Given the description of an element on the screen output the (x, y) to click on. 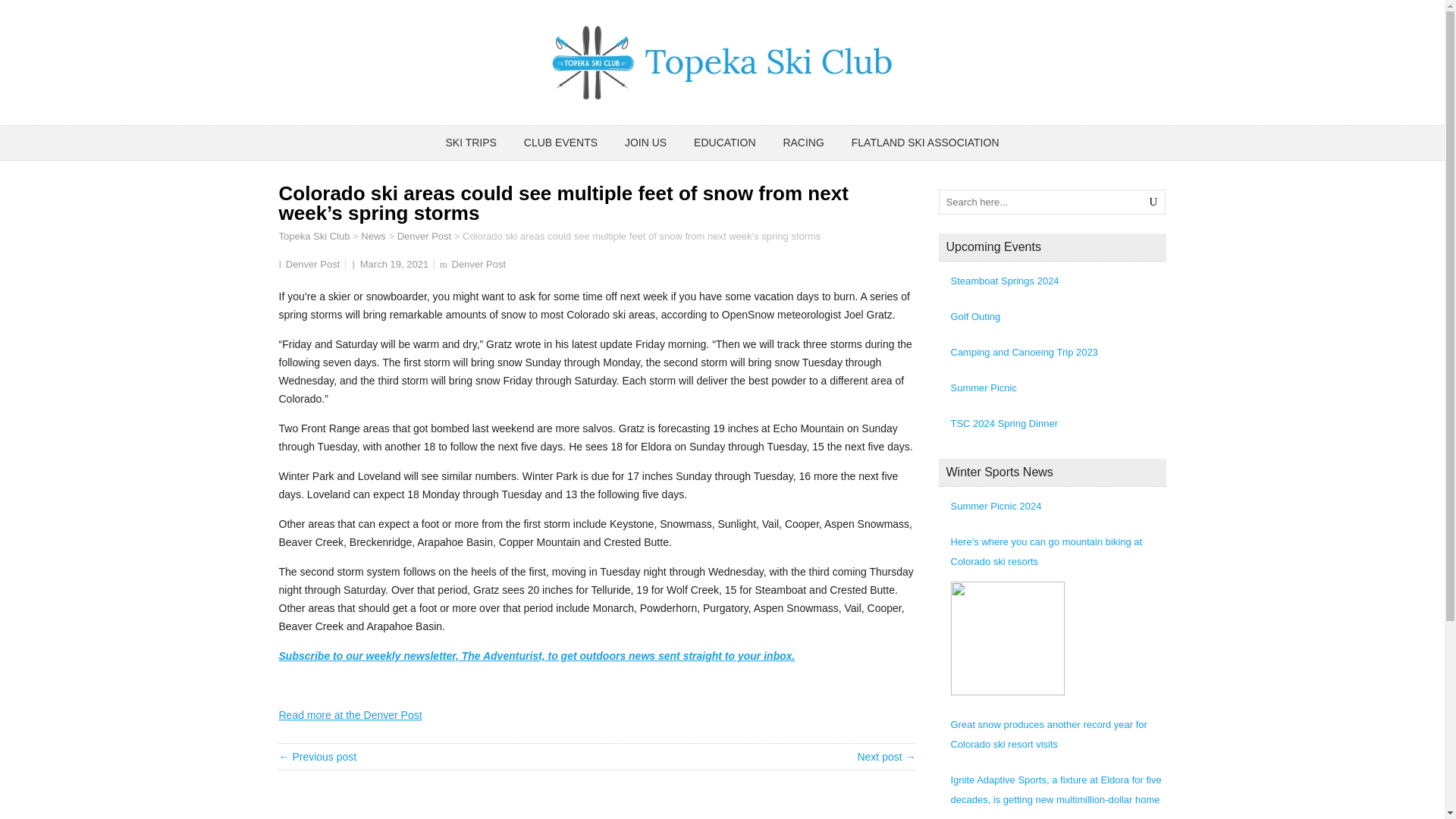
Go to Topeka Ski Club. (314, 235)
Denver Post (424, 235)
EDUCATION (724, 142)
U (1153, 201)
Denver Post (478, 264)
Camping and Canoeing Trip 2023 (1058, 352)
U (1153, 201)
Steamboat Springs 2024 (1058, 281)
Go to the News Category archives. (373, 235)
Go to the Denver Post Category archives. (424, 235)
